Given the description of an element on the screen output the (x, y) to click on. 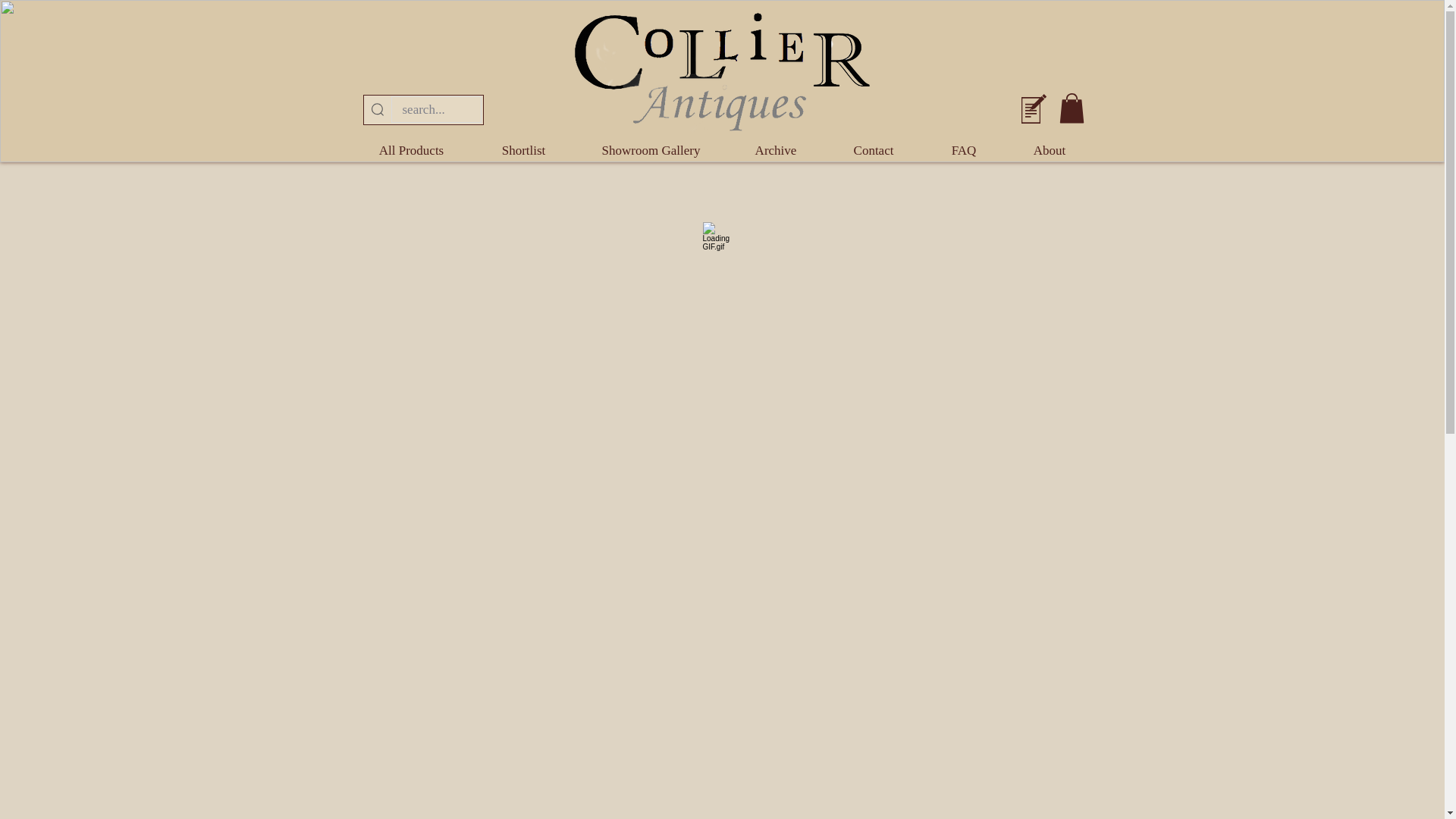
Shortlist (522, 150)
Showroom Gallery (650, 150)
All Products (410, 150)
About (1048, 150)
FAQ (962, 150)
Contact (872, 150)
Archive (775, 150)
